Given the description of an element on the screen output the (x, y) to click on. 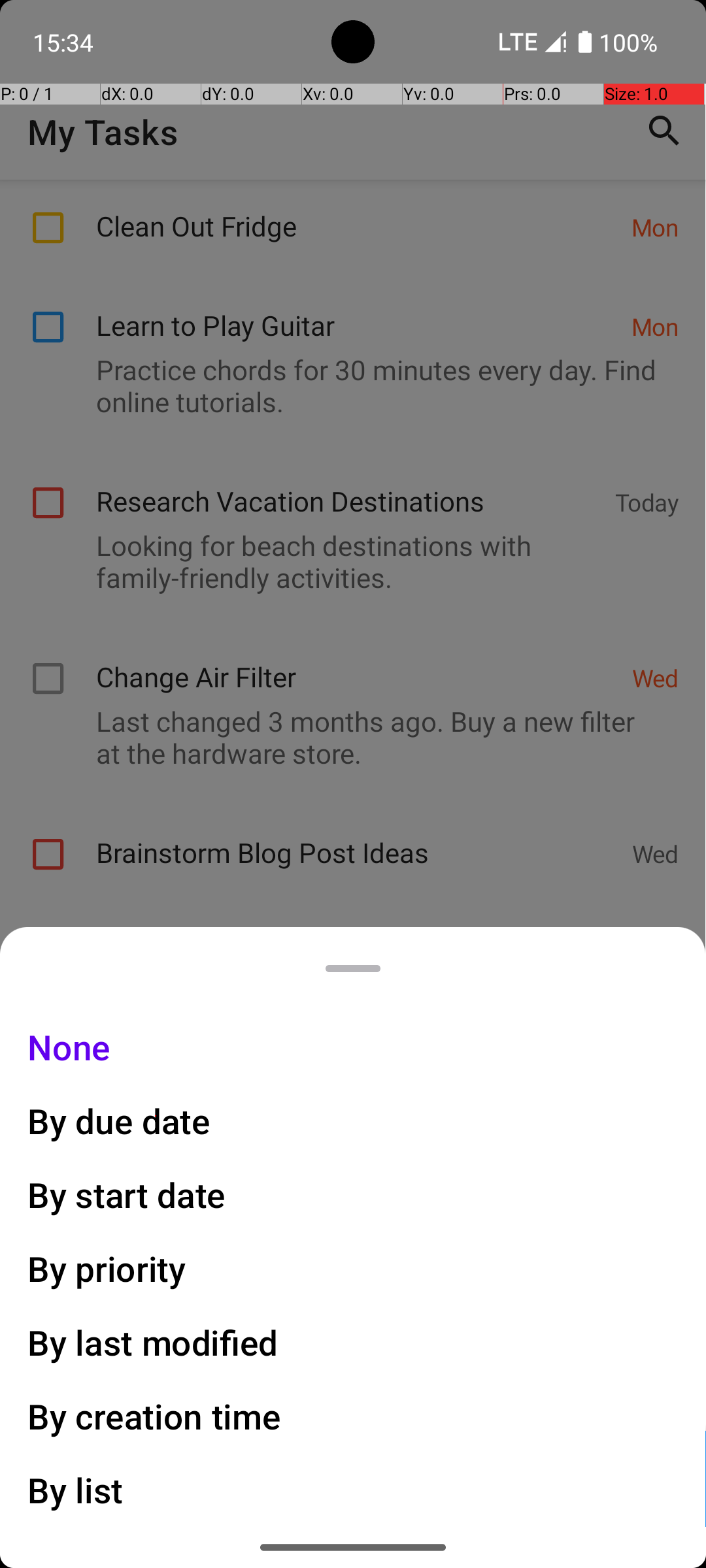
By due date Element type: android.widget.TextView (119, 1120)
By start date Element type: android.widget.TextView (126, 1194)
By priority Element type: android.widget.TextView (106, 1268)
By last modified Element type: android.widget.TextView (152, 1342)
By creation time Element type: android.widget.TextView (154, 1415)
By list Element type: android.widget.TextView (75, 1489)
